Given the description of an element on the screen output the (x, y) to click on. 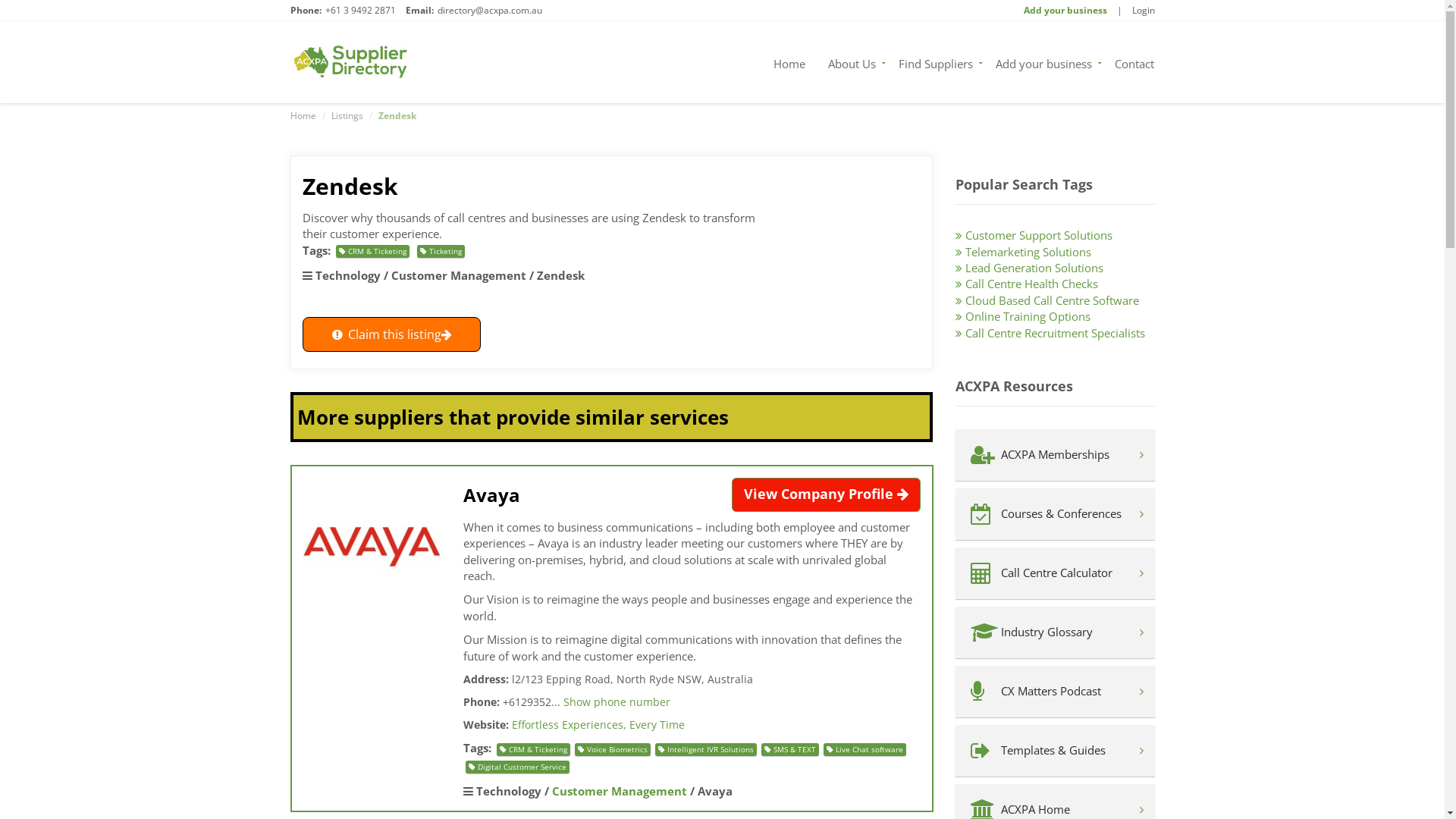
Claim this listing Element type: text (390, 333)
Courses & Conferences Element type: text (1054, 513)
CRM & Ticketing Element type: text (371, 250)
Add your business Element type: text (1043, 61)
CRM & Ticketing Element type: text (532, 749)
SMS & TEXT Element type: text (789, 749)
Telemarketing Solutions Element type: text (1054, 252)
Home Element type: text (302, 115)
Voice Biometrics Element type: text (611, 749)
Intelligent IVR Solutions Element type: text (705, 749)
Lead Generation Solutions Element type: text (1054, 268)
+61 3 9492 2871 Element type: text (359, 9)
Customer Management Element type: text (618, 791)
About Us Element type: text (851, 61)
Show phone number Element type: text (615, 702)
Ticketing Element type: text (440, 250)
Digital Customer Service Element type: text (516, 767)
Call Centre Calculator Element type: text (1054, 573)
Call Centre Health Checks Element type: text (1054, 283)
Add your business Element type: text (1065, 9)
Customer Support Solutions Element type: text (1054, 235)
Login Element type: text (1142, 9)
Listings Element type: text (346, 115)
Online Training Options Element type: text (1054, 316)
Find Suppliers Element type: text (935, 61)
CX Matters Podcast Element type: text (1054, 691)
Contact Element type: text (1128, 61)
Effortless Experiences, Every Time Element type: text (597, 725)
Home Element type: text (789, 61)
Industry Glossary Element type: text (1054, 632)
directory@acxpa.com.au Element type: text (488, 9)
Templates & Guides Element type: text (1054, 750)
Live Chat software Element type: text (863, 749)
View Company Profile Element type: text (825, 494)
Avaya Element type: text (490, 494)
Cloud Based Call Centre Software Element type: text (1054, 300)
ACXPA Memberships Element type: text (1054, 454)
Call Centre Recruitment Specialists Element type: text (1054, 333)
